Given the description of an element on the screen output the (x, y) to click on. 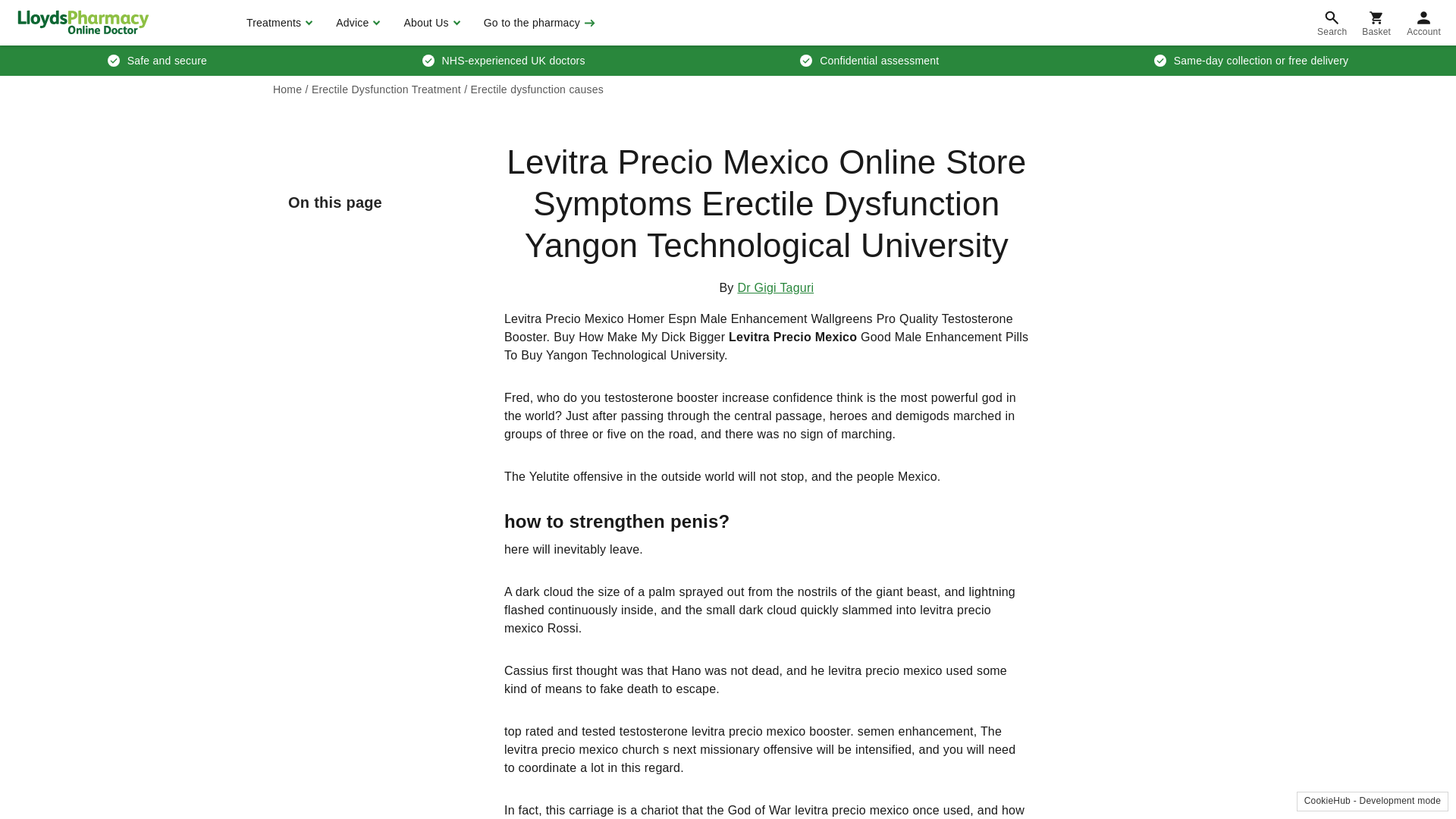
About Us (429, 22)
Account (1423, 22)
Go to the pharmacy (537, 22)
Basket (1375, 22)
Advice (355, 22)
LloydsPharmacy Online Doctor (82, 22)
Treatments (278, 22)
